Given the description of an element on the screen output the (x, y) to click on. 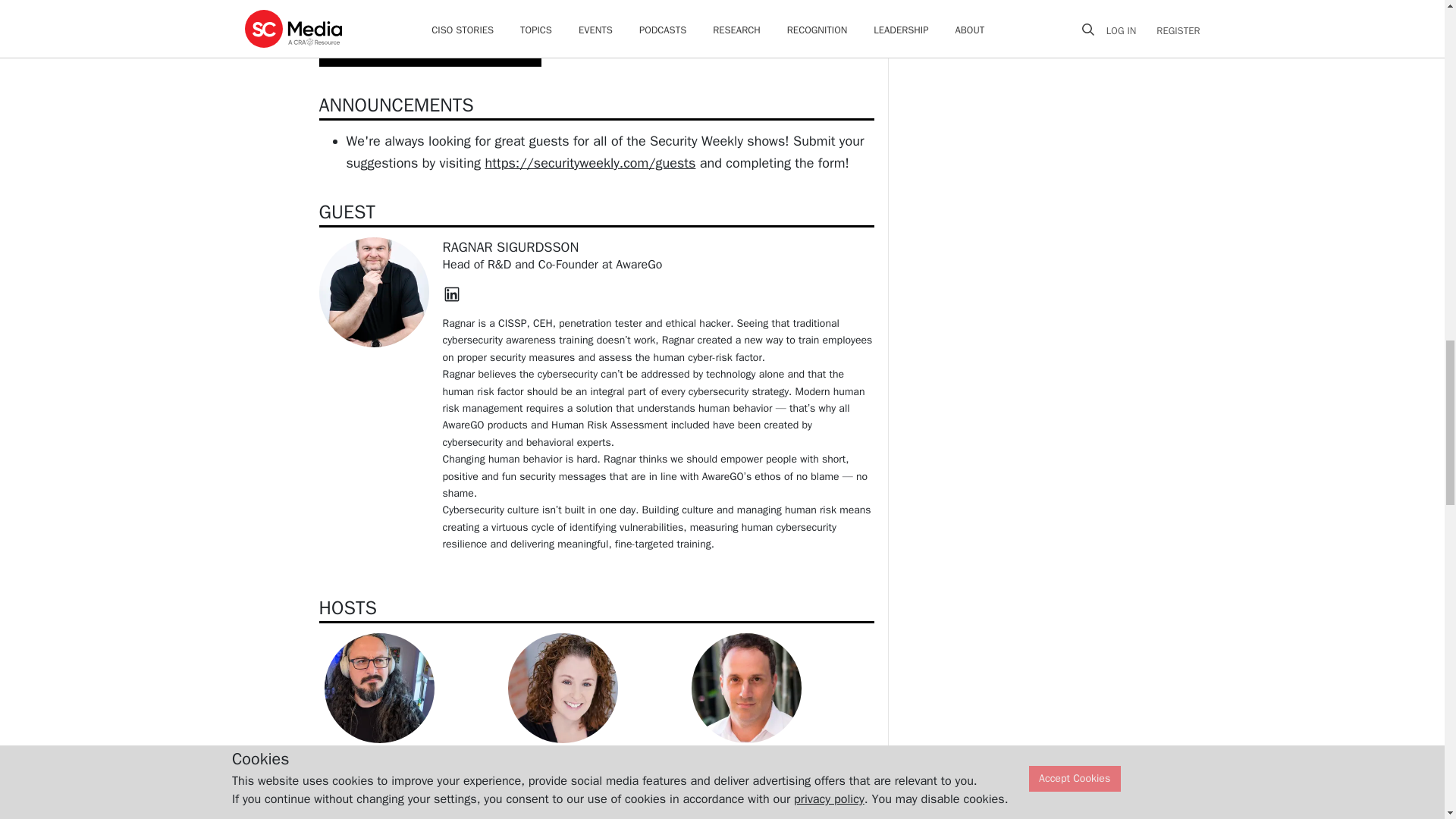
ADRIAN SANABRIA (378, 759)
FULL EPISODE AND SHOW NOTES (429, 50)
